Given the description of an element on the screen output the (x, y) to click on. 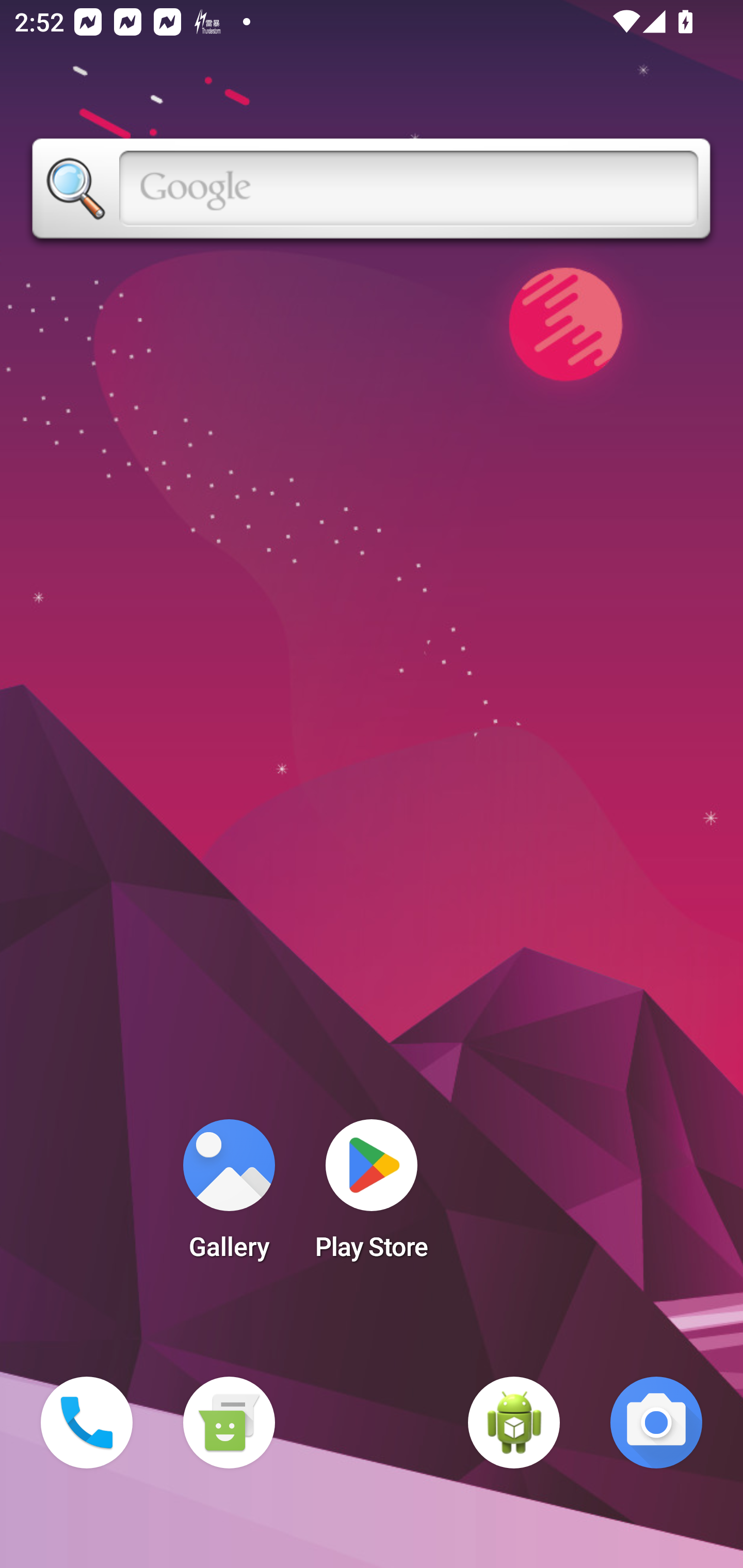
Gallery (228, 1195)
Play Store (371, 1195)
Phone (86, 1422)
Messaging (228, 1422)
WebView Browser Tester (513, 1422)
Camera (656, 1422)
